Given the description of an element on the screen output the (x, y) to click on. 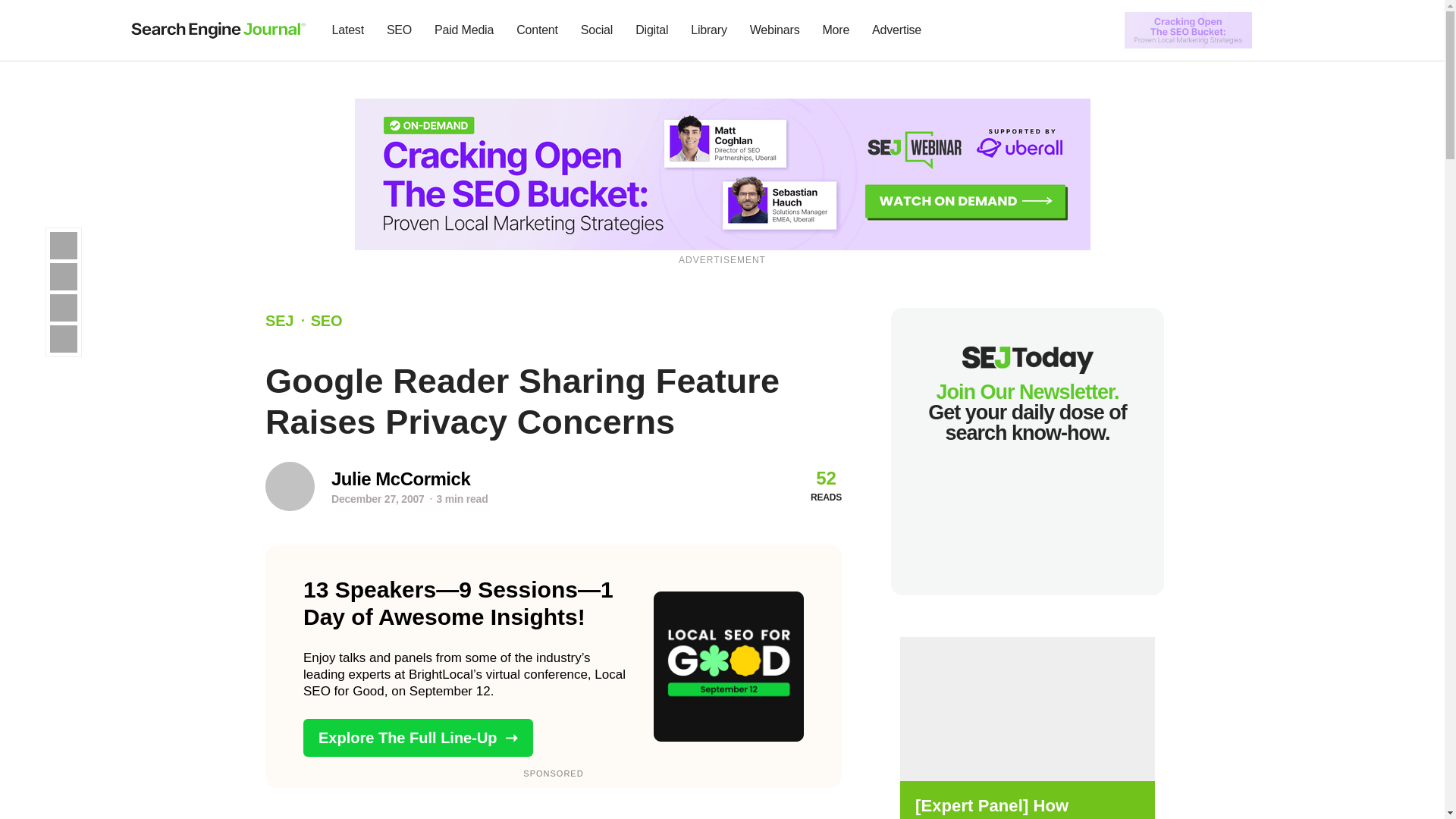
Register Now (1026, 707)
Go to Author Page (400, 478)
Paid Media (464, 30)
Watch On Demand (722, 172)
Go to Author Page (289, 486)
Register Now (1026, 807)
Subscribe to our Newsletter (1277, 30)
Latest (347, 30)
Register For Free (1187, 28)
